Given the description of an element on the screen output the (x, y) to click on. 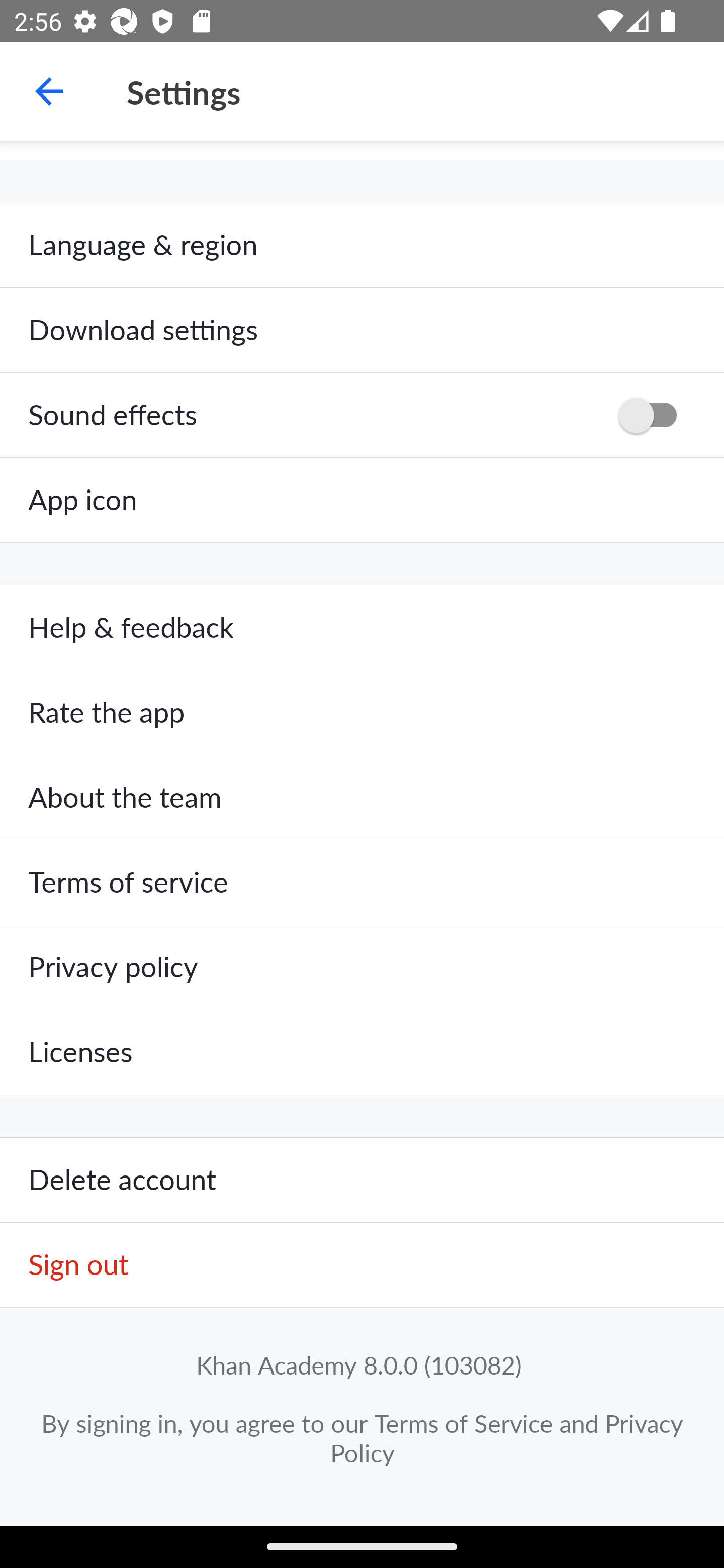
Navigate up (49, 91)
Language & region (362, 245)
Download settings (362, 330)
OFF (653, 415)
App icon (362, 499)
Help & feedback (362, 627)
Rate the app (362, 713)
About the team (362, 797)
Terms of service (362, 882)
Privacy policy (362, 967)
Licenses (362, 1051)
Delete account (362, 1180)
Sign out (362, 1265)
